Given the description of an element on the screen output the (x, y) to click on. 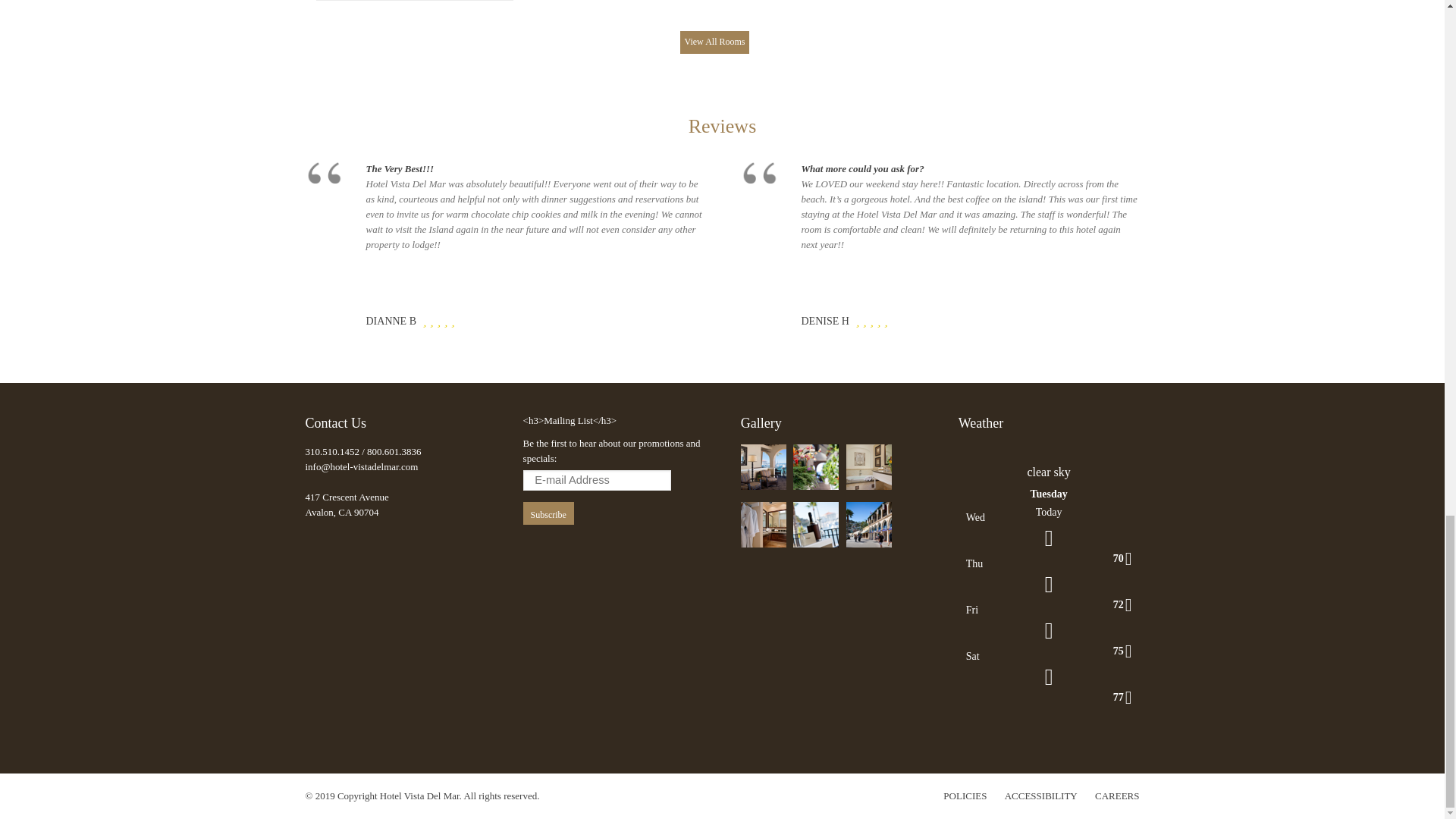
gorgeous (424, 320)
gorgeous (438, 320)
gorgeous (431, 320)
Subscribe (547, 513)
gorgeous (445, 320)
gorgeous (438, 320)
